Given the description of an element on the screen output the (x, y) to click on. 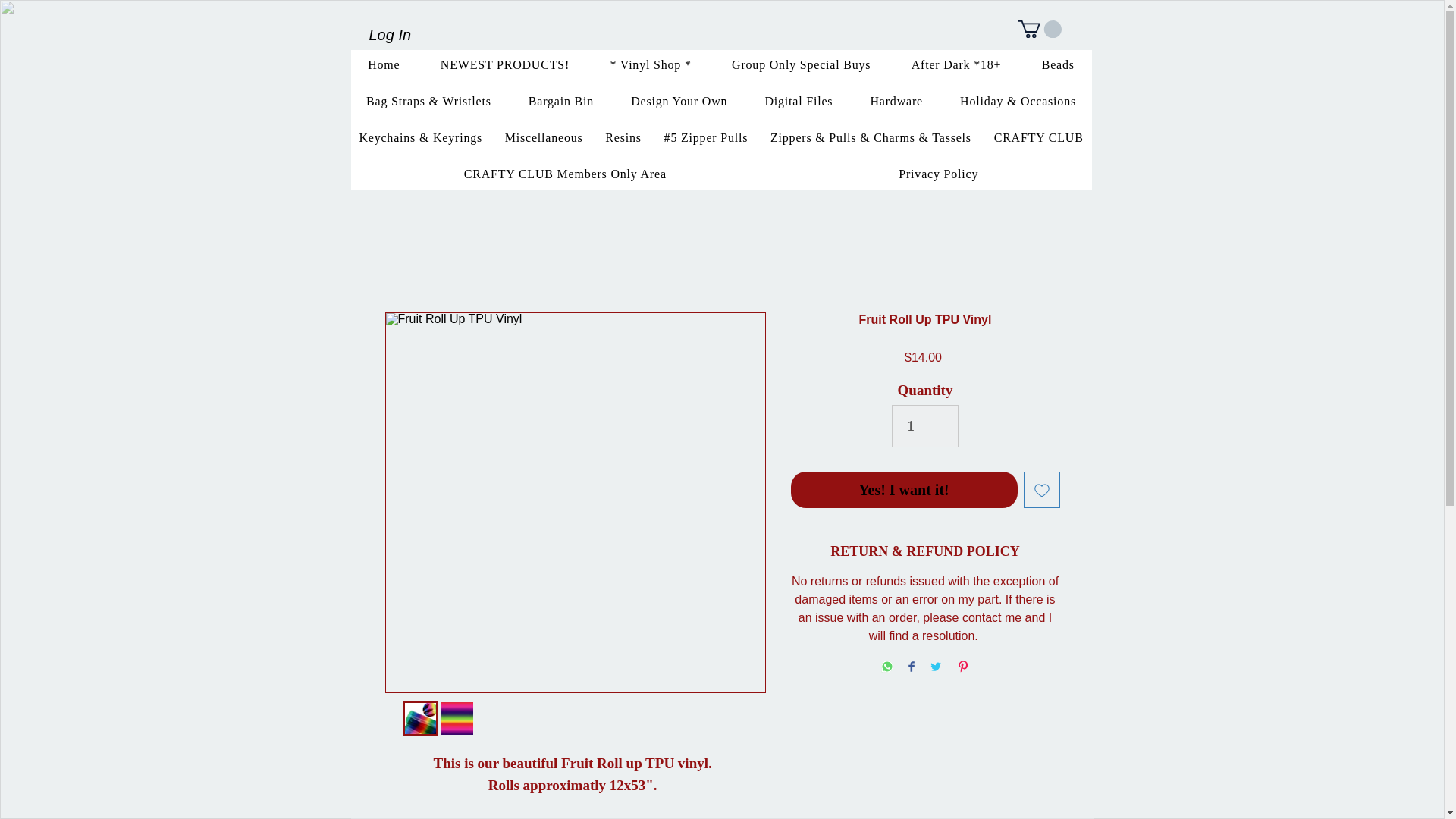
Design Your Own (678, 101)
Beads (1057, 64)
Log In (390, 34)
Digital Files (798, 101)
1 (924, 425)
Bargain Bin (560, 101)
Group Only Special Buys (801, 64)
NEWEST PRODUCTS! (504, 64)
Home (383, 64)
